Given the description of an element on the screen output the (x, y) to click on. 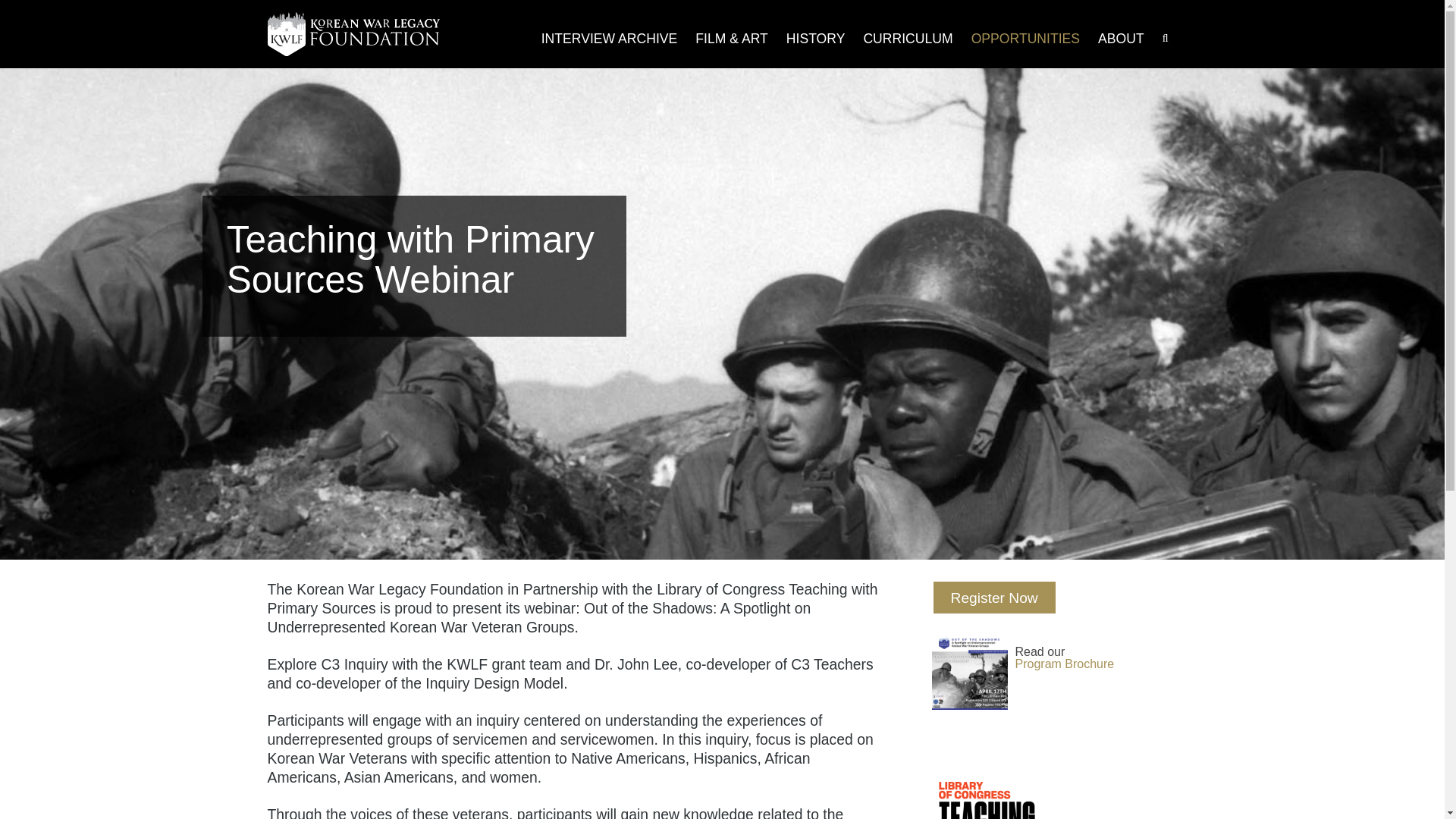
HISTORY (815, 38)
INTERVIEW ARCHIVE (609, 38)
